Given the description of an element on the screen output the (x, y) to click on. 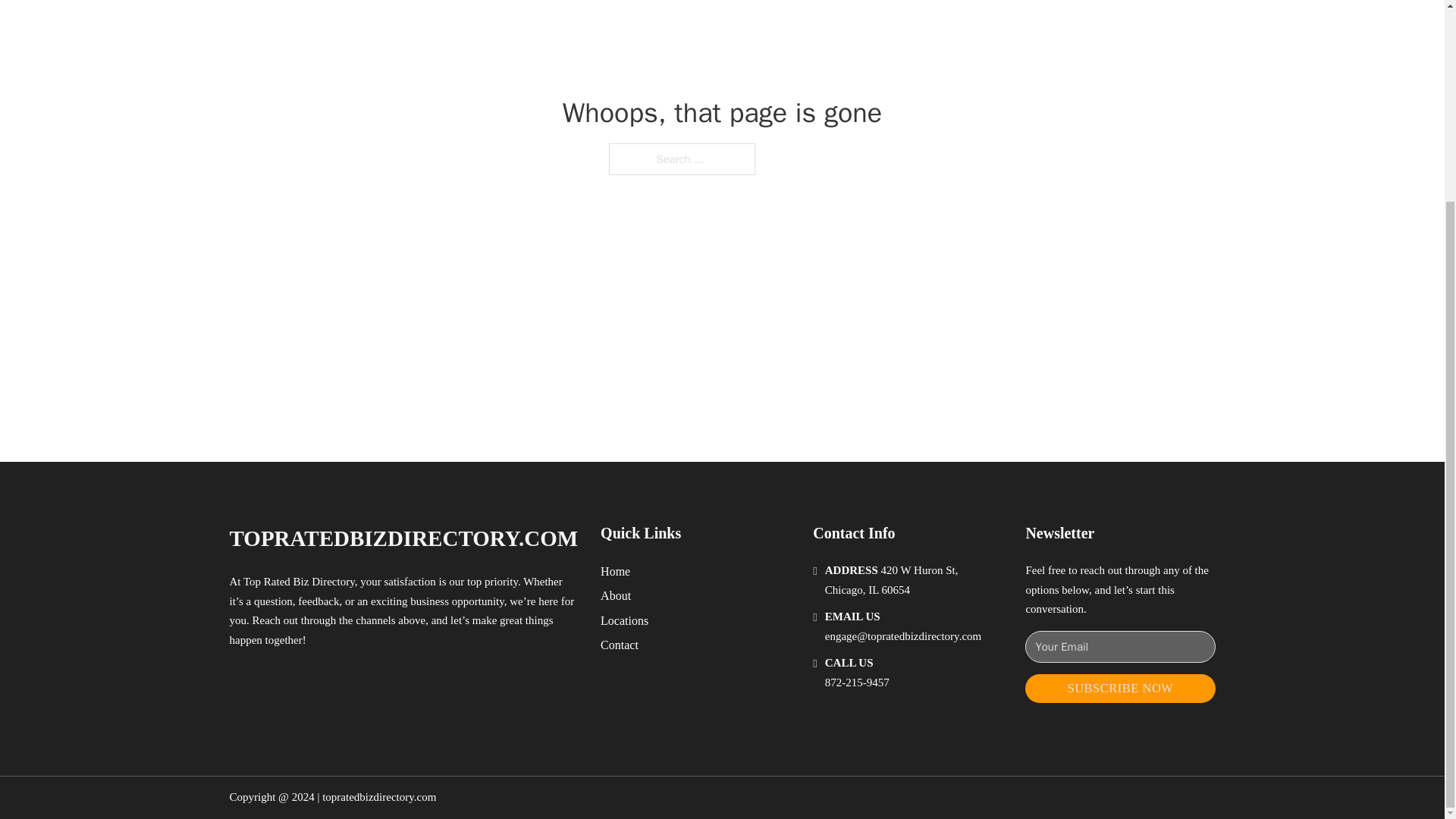
Locations (623, 620)
TOPRATEDBIZDIRECTORY.COM (403, 538)
Home (614, 571)
872-215-9457 (857, 682)
Contact (619, 644)
About (614, 595)
SUBSCRIBE NOW (1119, 688)
